Given the description of an element on the screen output the (x, y) to click on. 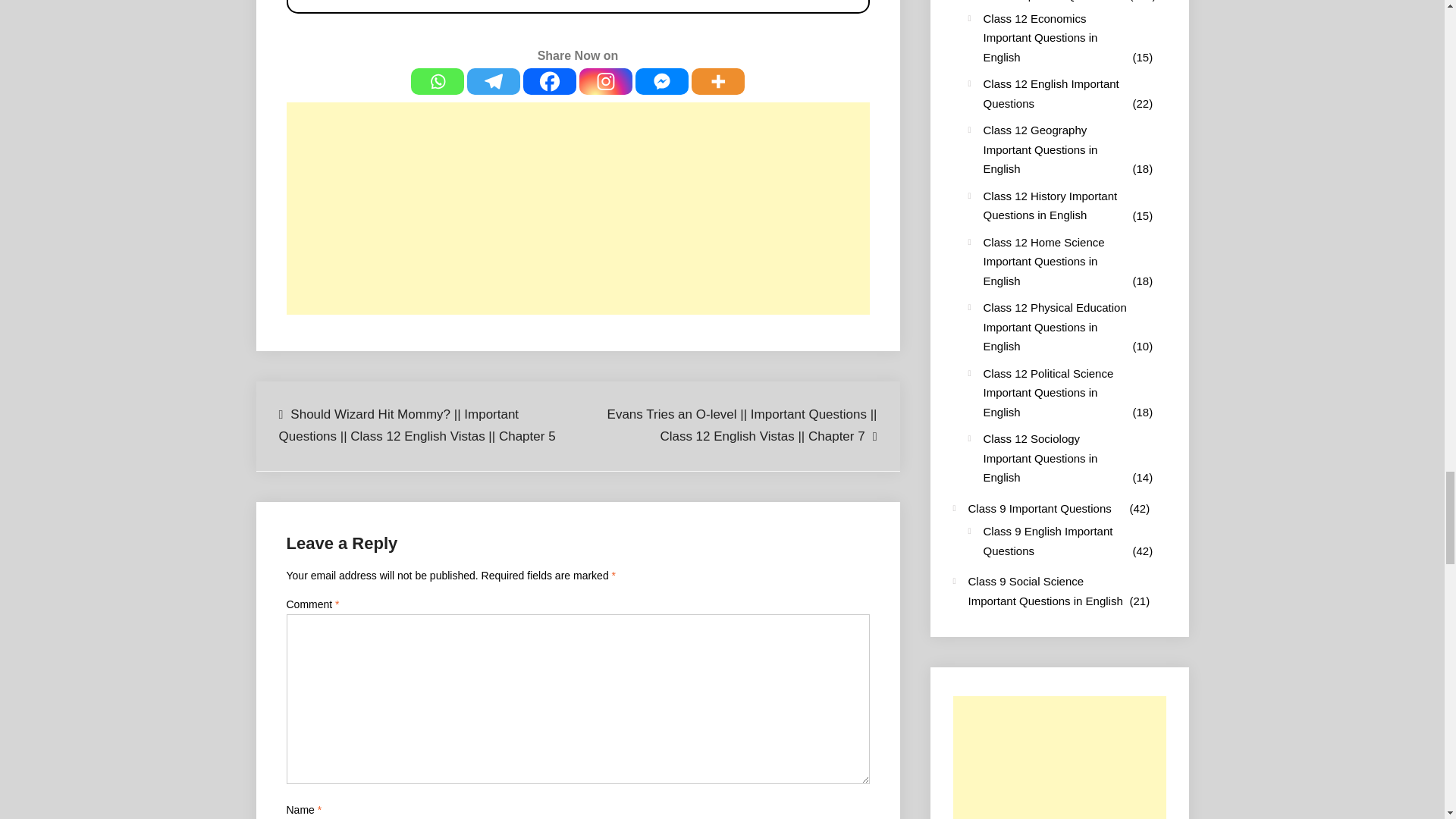
Instagram (605, 81)
Telegram (493, 81)
Whatsapp (437, 81)
Facebook (549, 81)
